Given the description of an element on the screen output the (x, y) to click on. 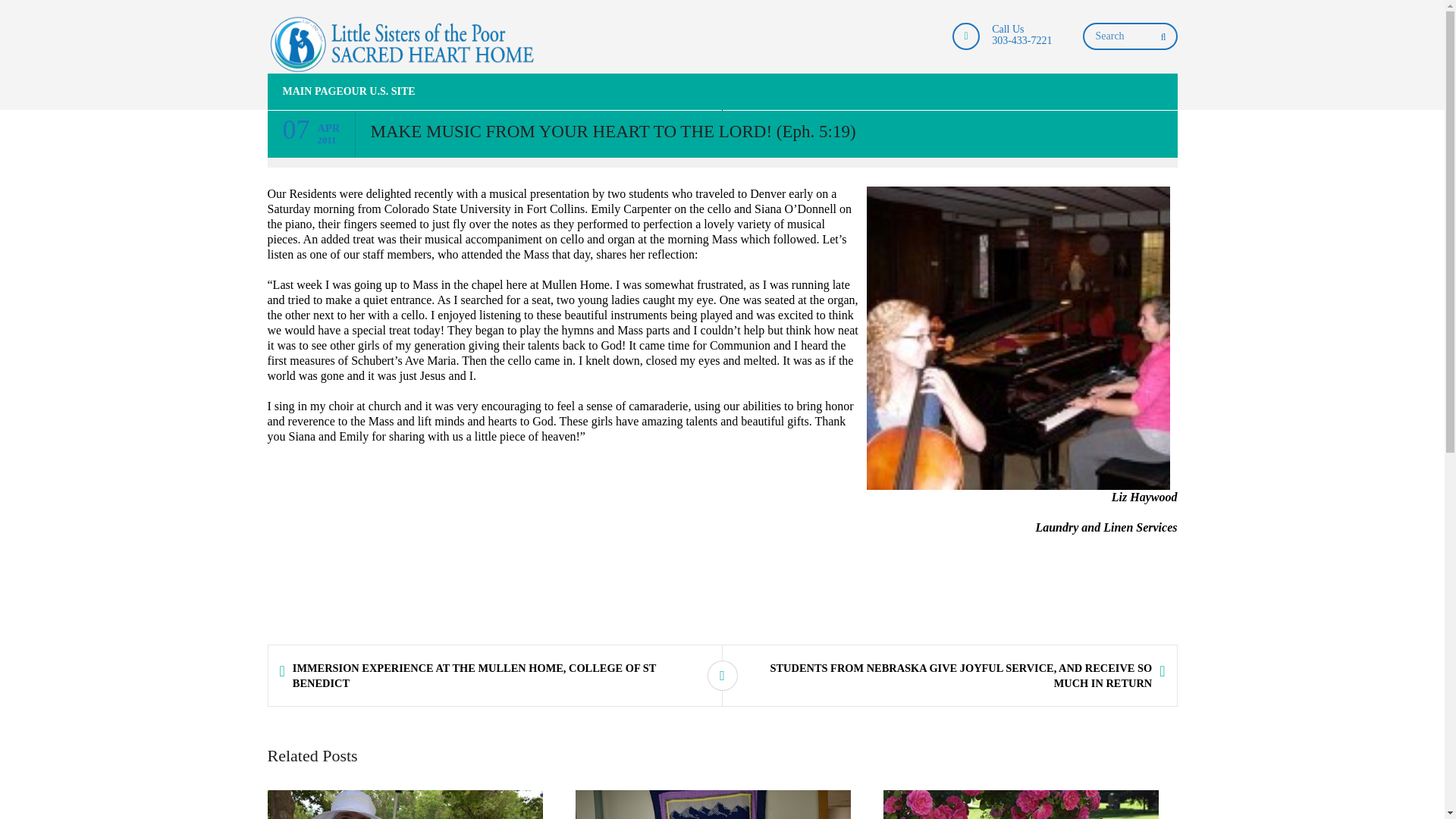
MAIN PAGE (304, 91)
Little Sisters of the Poor Denver (401, 44)
OUR U.S. SITE (378, 91)
